Given the description of an element on the screen output the (x, y) to click on. 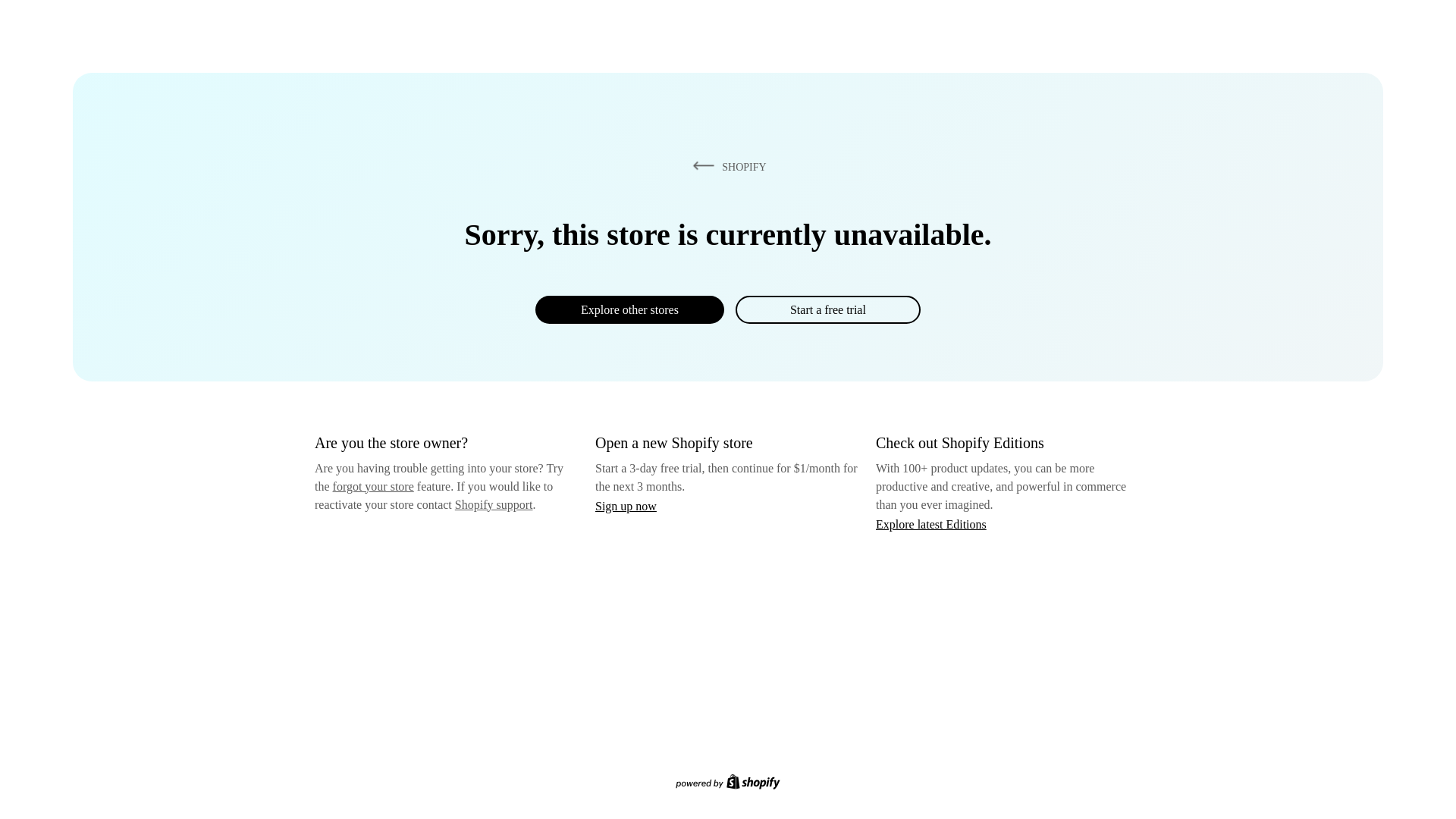
SHOPIFY (726, 166)
Start a free trial (827, 309)
Shopify support (493, 504)
Explore other stores (629, 309)
forgot your store (373, 486)
Explore latest Editions (931, 523)
Sign up now (625, 505)
